Given the description of an element on the screen output the (x, y) to click on. 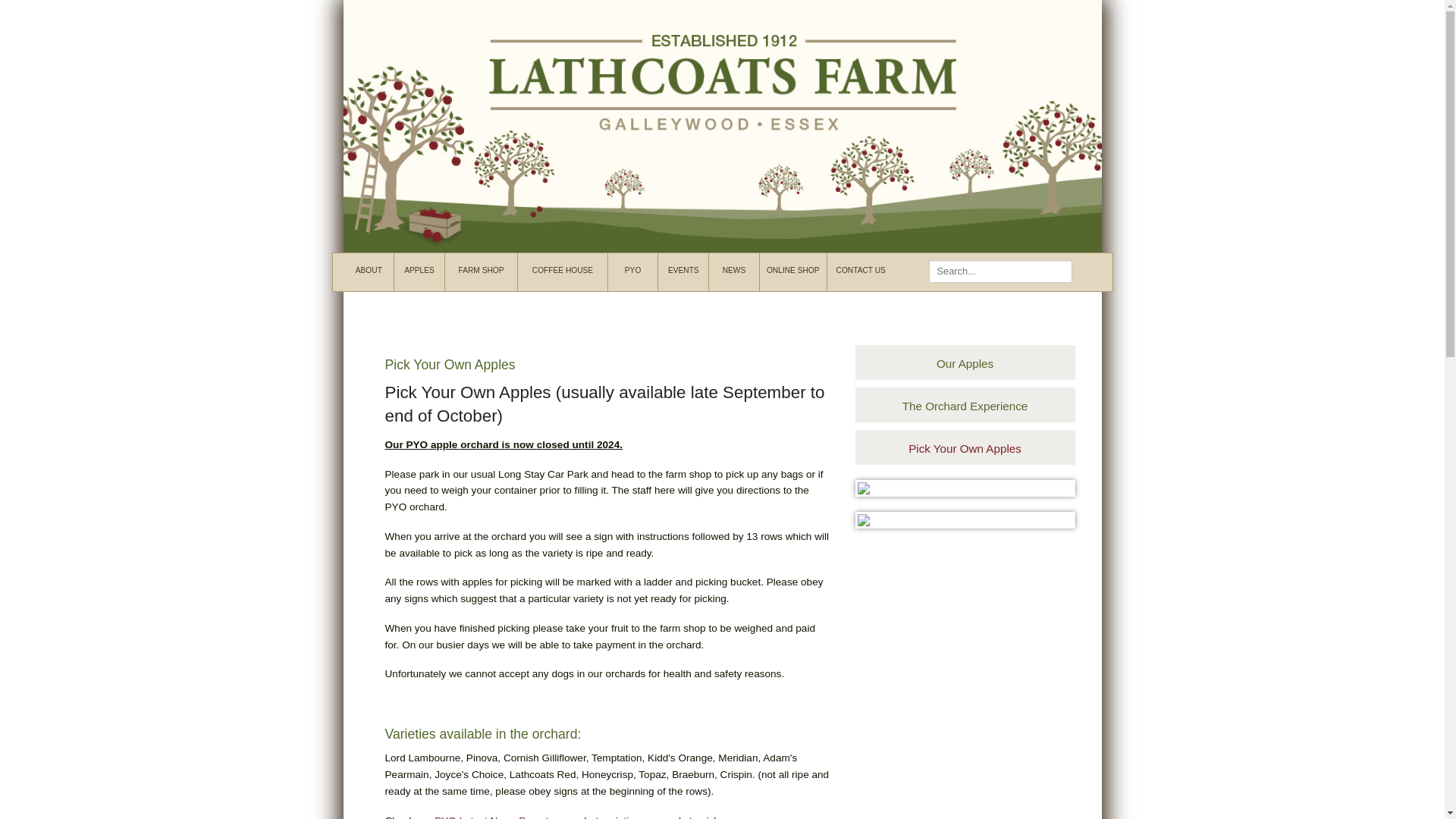
View details on upcoming events (683, 270)
FARM SHOP (480, 270)
EVENTS (683, 270)
Check out our latest blog posts (733, 270)
Find out about Lathcoats (368, 272)
Find out about the Farm Shop (481, 272)
APPLES (418, 270)
ONLINE SHOP (793, 270)
Information on our coffee house (562, 270)
CONTACT US (860, 270)
ABOUT (368, 270)
Find out about the apples we grow (418, 270)
PYO (633, 270)
Pick your own (633, 270)
Get in contact (860, 270)
